Given the description of an element on the screen output the (x, y) to click on. 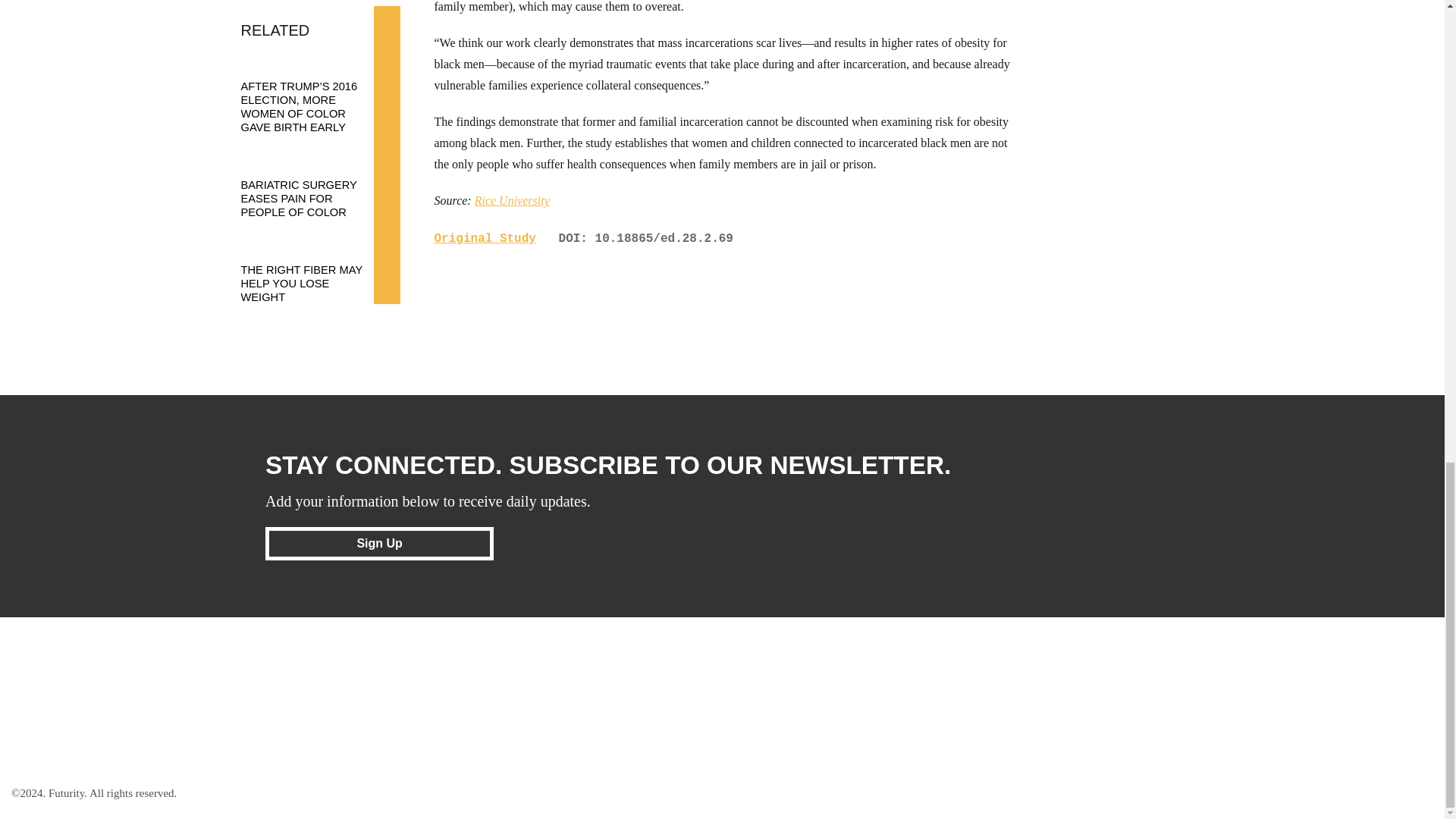
The right fiber may help you lose weight (313, 268)
Bariatric surgery eases pain for people of color (313, 184)
